Given the description of an element on the screen output the (x, y) to click on. 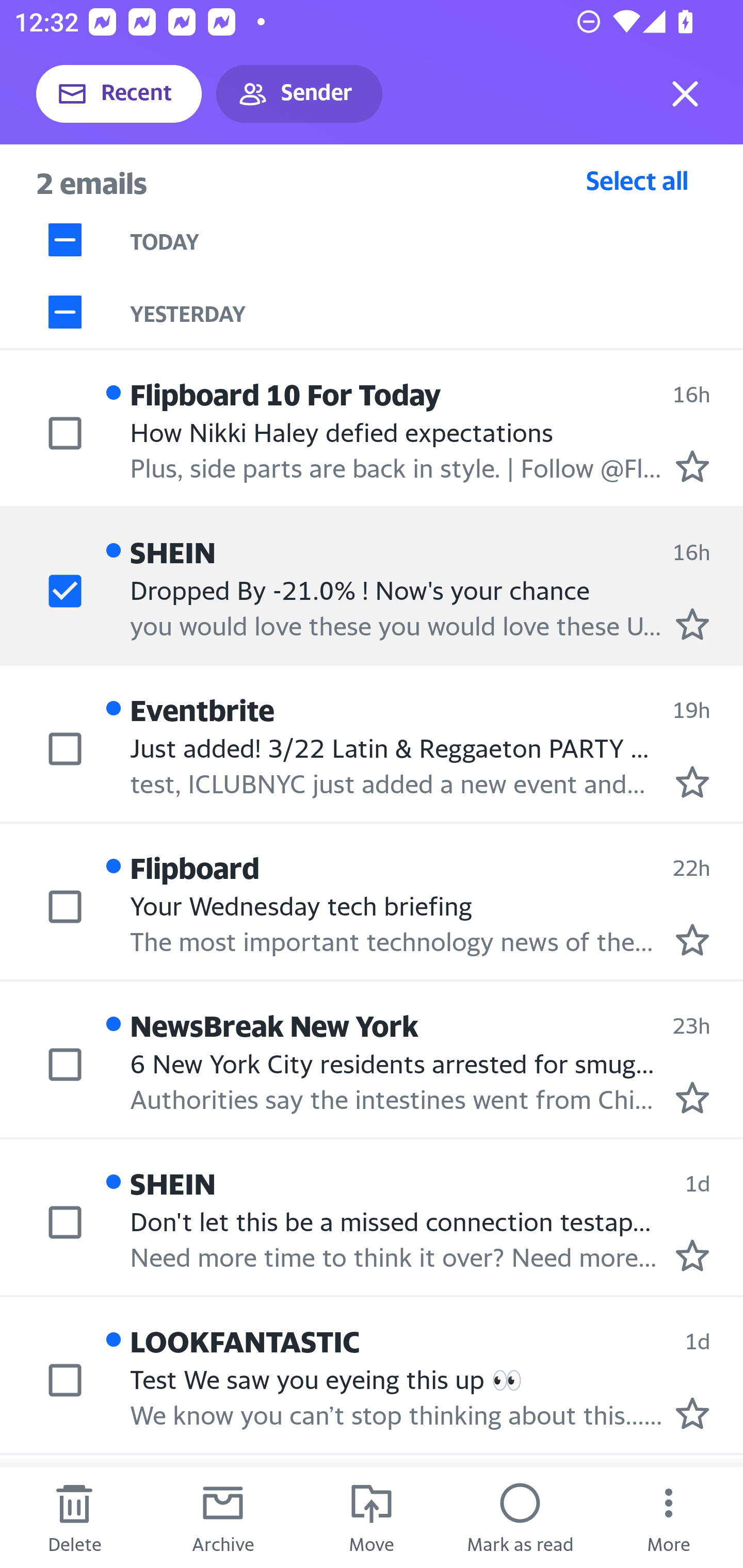
Sender (299, 93)
Exit selection mode (684, 93)
Select all (637, 180)
YESTERDAY (436, 311)
Mark as starred. (692, 466)
Mark as starred. (692, 624)
Mark as starred. (692, 781)
Mark as starred. (692, 939)
Mark as starred. (692, 1097)
Mark as starred. (692, 1255)
Mark as starred. (692, 1413)
Delete (74, 1517)
Archive (222, 1517)
Move (371, 1517)
Mark as read (519, 1517)
More (668, 1517)
